Given the description of an element on the screen output the (x, y) to click on. 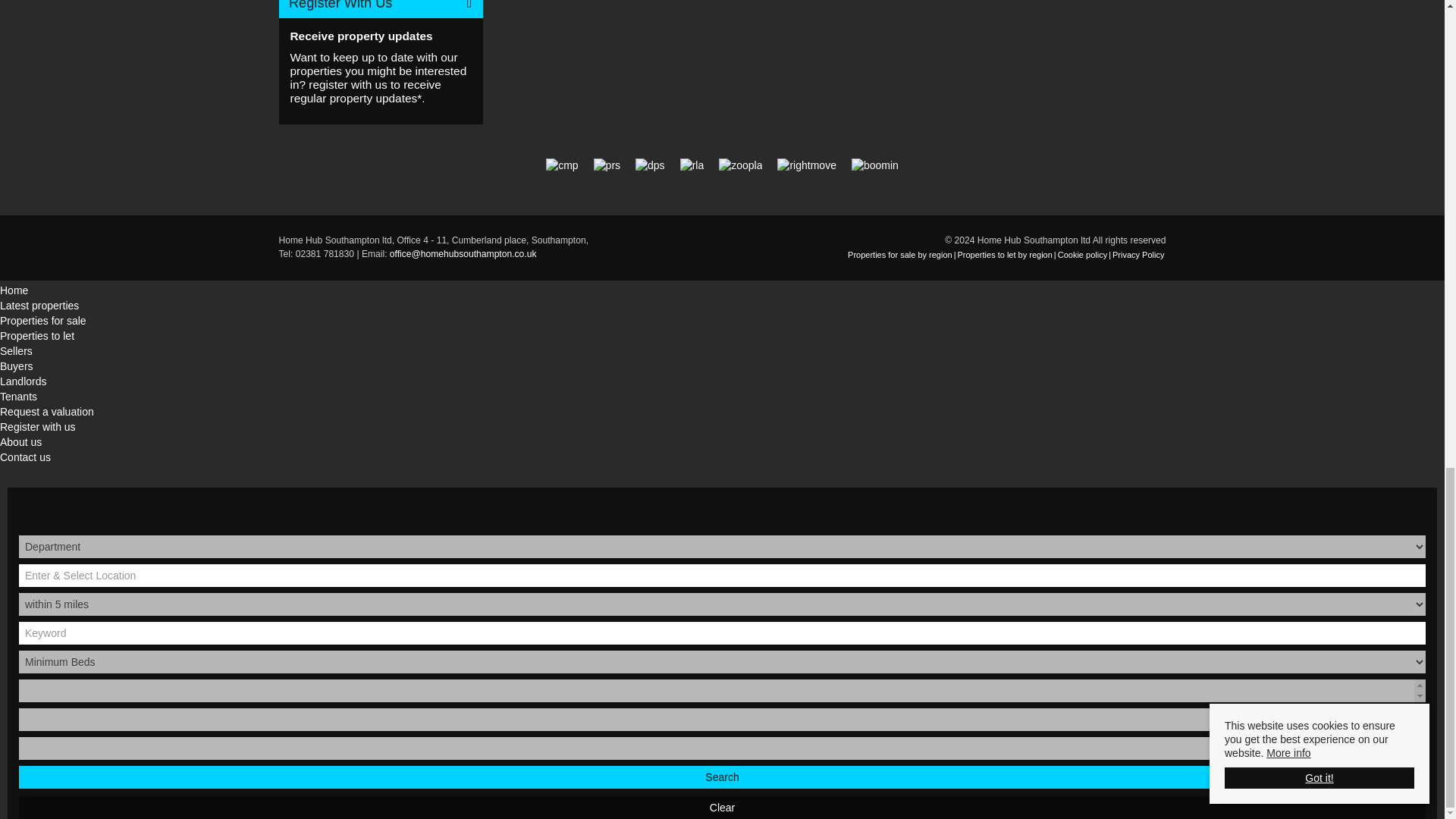
Properties to let by region (1004, 254)
Cookie policy (1082, 254)
Properties for sale by region (900, 254)
Privacy Policy (1138, 254)
